Given the description of an element on the screen output the (x, y) to click on. 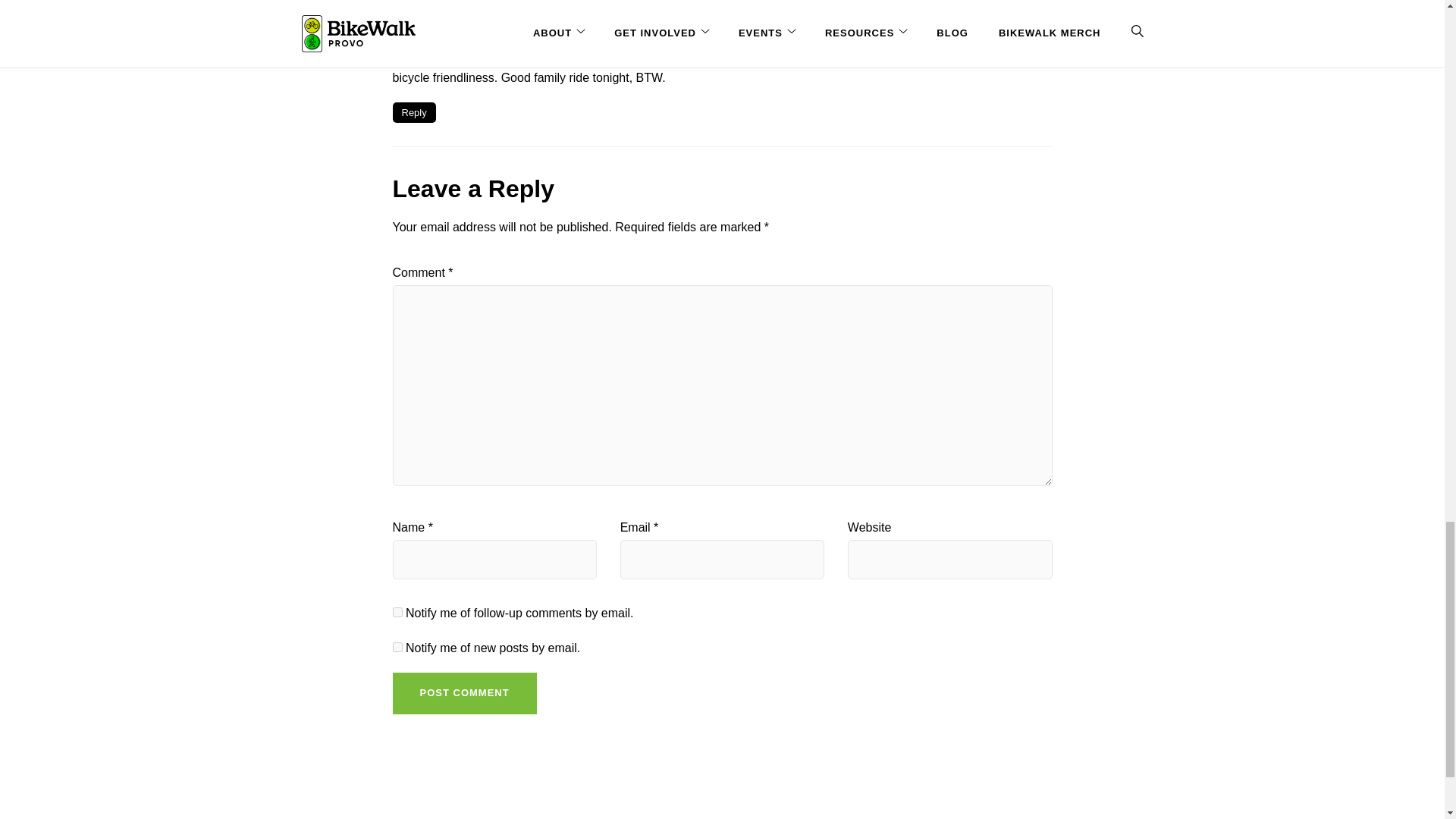
subscribe (398, 612)
Post Comment (465, 693)
subscribe (398, 646)
